Given the description of an element on the screen output the (x, y) to click on. 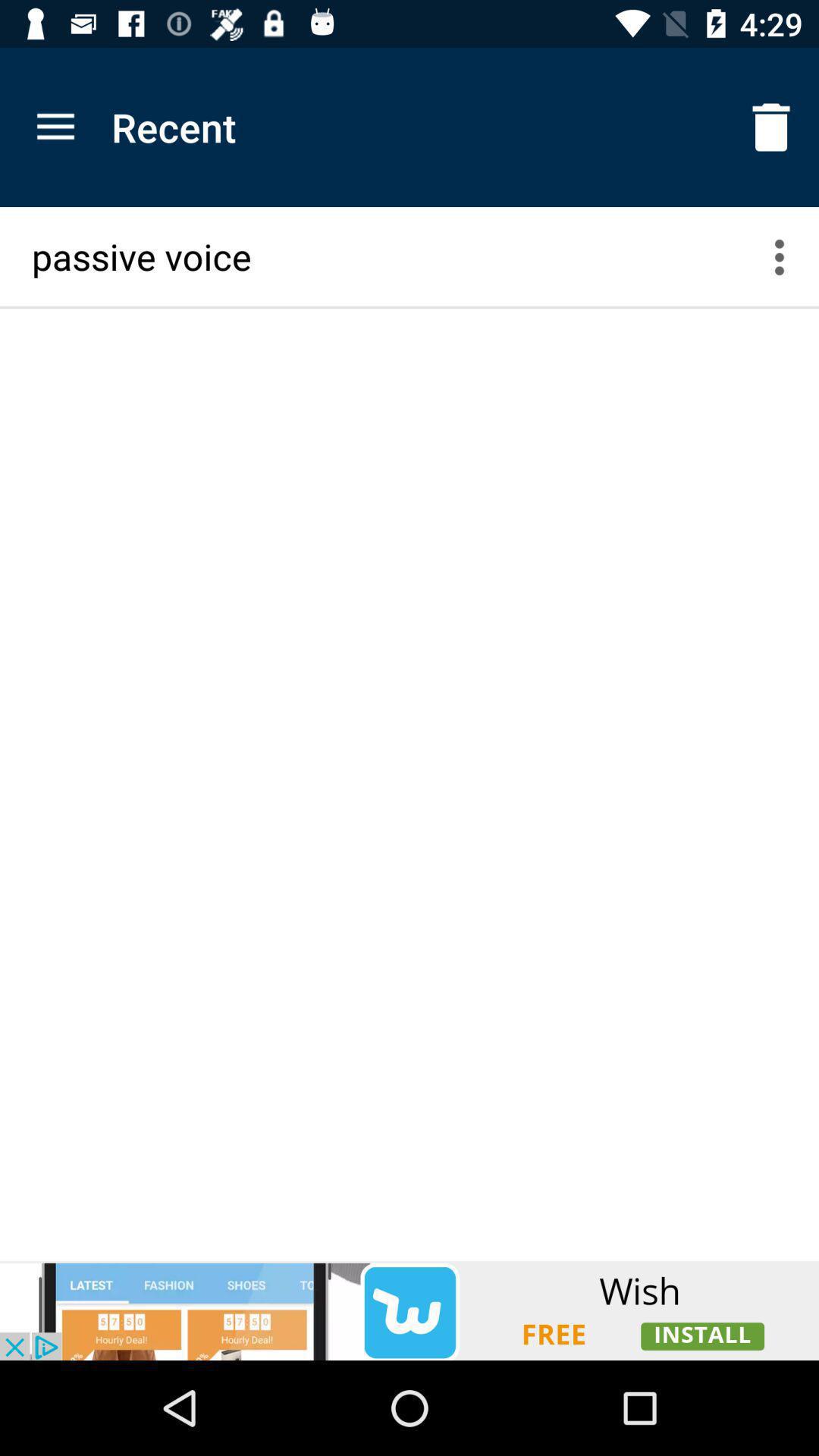
go to menu (789, 256)
